Given the description of an element on the screen output the (x, y) to click on. 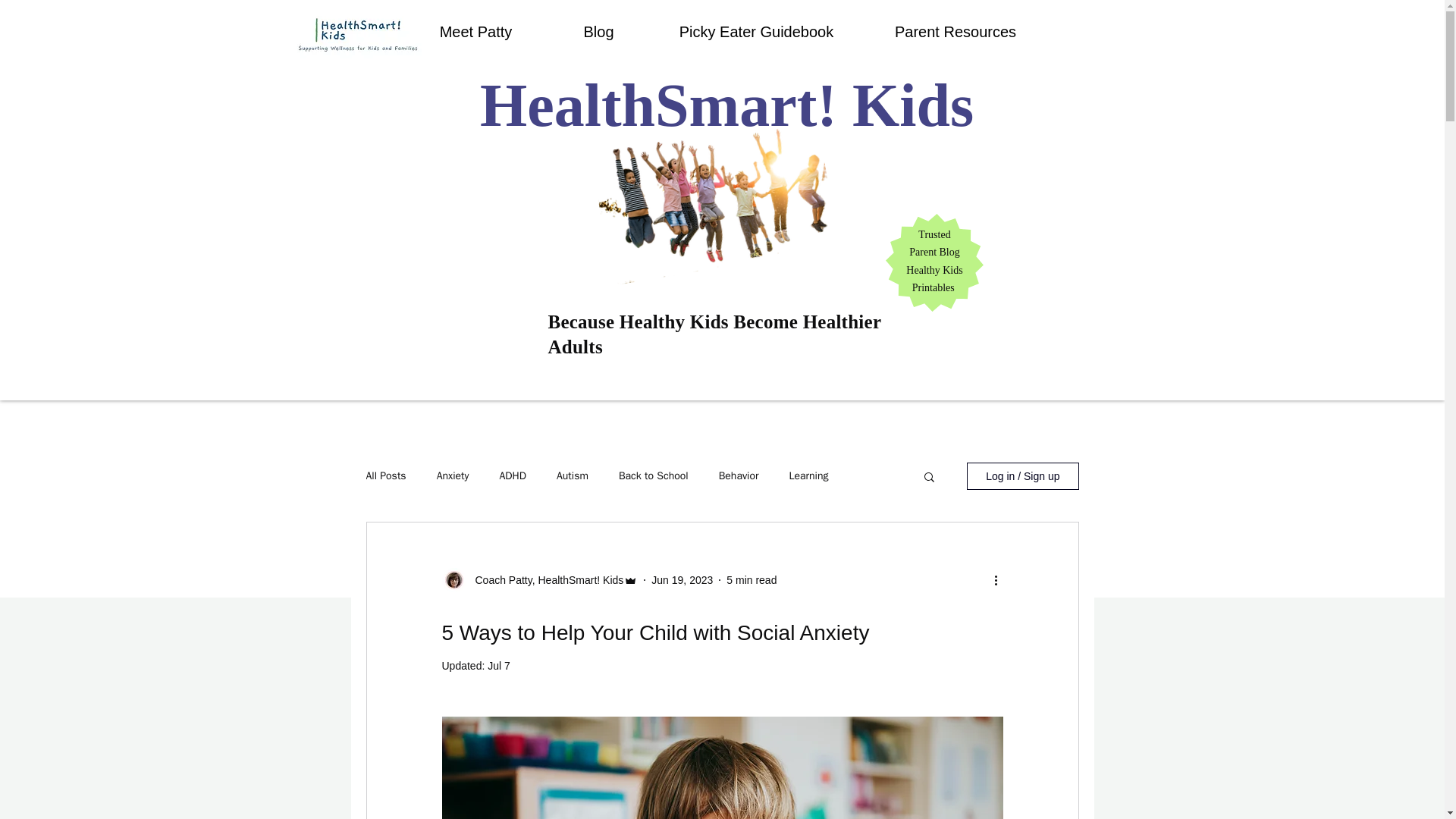
Coach Patty, HealthSmart! Kids (544, 579)
All Posts (385, 476)
Anxiety (452, 476)
Jul 7 (499, 665)
Back to School (653, 476)
Picky Eater Guidebook (756, 32)
5 min read (751, 579)
Learning (808, 476)
Meet Patty (475, 32)
Jun 19, 2023 (681, 579)
Parent Resources (955, 32)
ADHD (512, 476)
Behavior (738, 476)
Blog (598, 32)
Autism (572, 476)
